Given the description of an element on the screen output the (x, y) to click on. 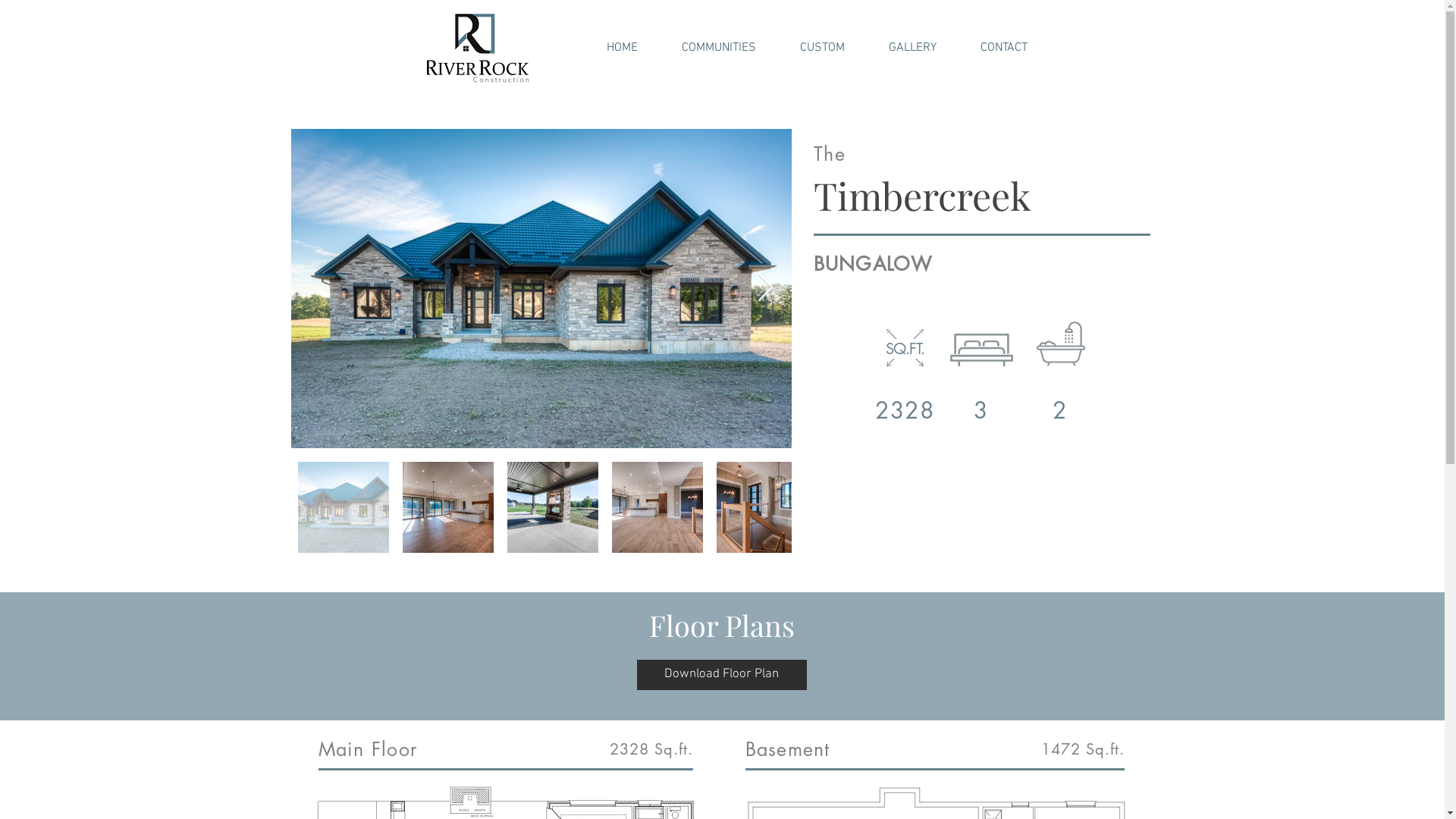
Download Floor Plan Element type: text (721, 674)
GALLERY Element type: text (911, 47)
CUSTOM Element type: text (822, 47)
HOME Element type: text (620, 47)
CONTACT Element type: text (1003, 47)
